Given the description of an element on the screen output the (x, y) to click on. 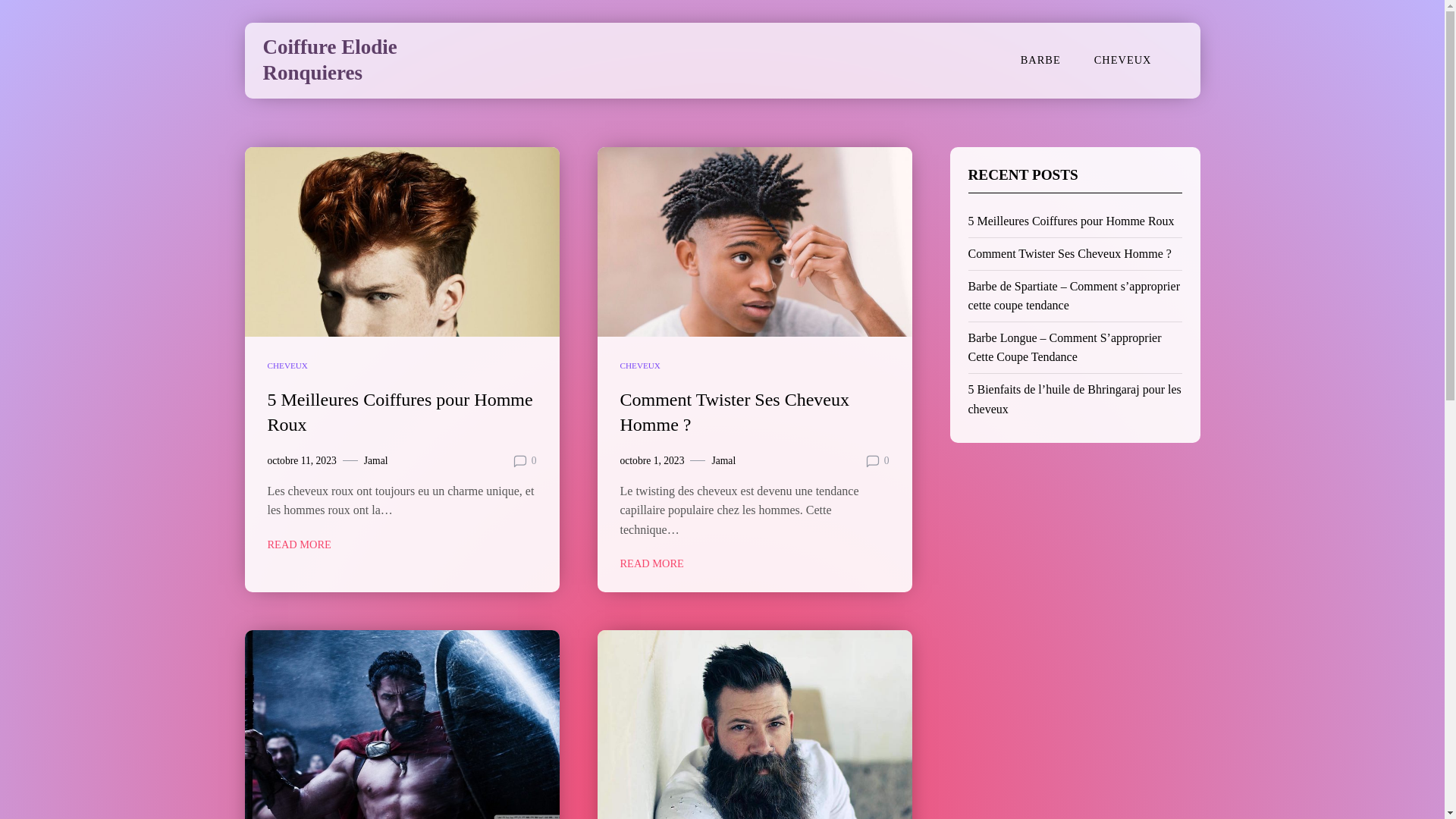
CHEVEUX Element type: text (1123, 60)
0 Element type: text (533, 460)
Jamal Element type: text (723, 460)
0 Element type: text (886, 460)
Coiffure Elodie Ronquieres Element type: text (329, 59)
Comment Twister Ses Cheveux Homme ? Element type: text (735, 412)
5 Meilleures Coiffures pour Homme Roux Element type: text (1070, 220)
READ MORE Element type: text (298, 544)
Jamal Element type: text (376, 460)
CHEVEUX Element type: text (286, 366)
octobre 11, 2023 Element type: text (300, 460)
5 Meilleures Coiffures pour Homme Roux Element type: text (399, 412)
CHEVEUX Element type: text (640, 366)
octobre 1, 2023 Element type: text (652, 460)
READ MORE Element type: text (652, 563)
Comment Twister Ses Cheveux Homme ? Element type: text (1068, 253)
BARBE Element type: text (1040, 60)
